Given the description of an element on the screen output the (x, y) to click on. 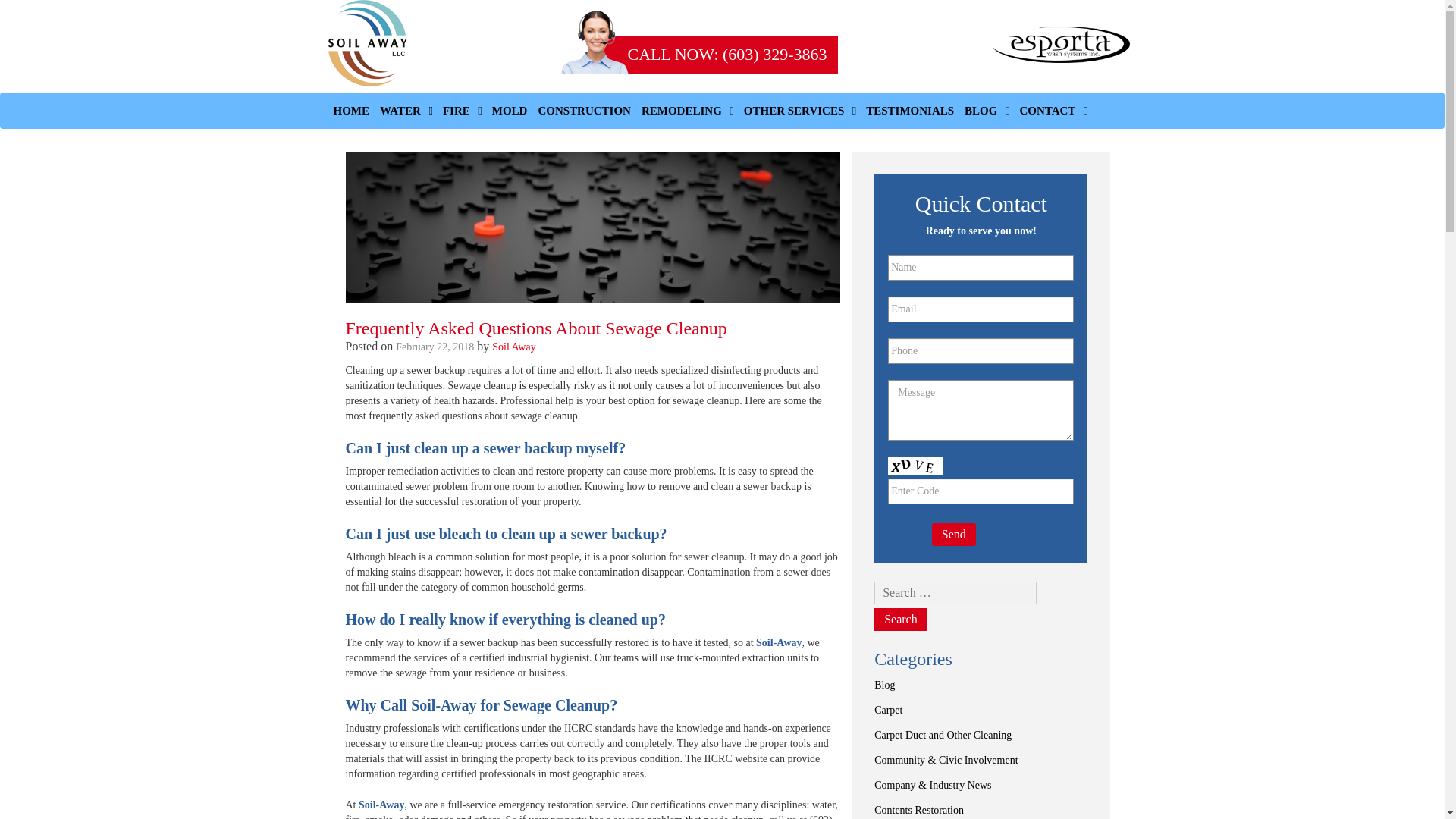
CONTACT (1052, 110)
Soil-Away (381, 804)
Search (901, 619)
Soil-Away (778, 642)
Send (953, 534)
CONSTRUCTION (584, 110)
TESTIMONIALS (909, 110)
OTHER SERVICES (799, 110)
Soil Away (513, 346)
FIRE (462, 110)
